Given the description of an element on the screen output the (x, y) to click on. 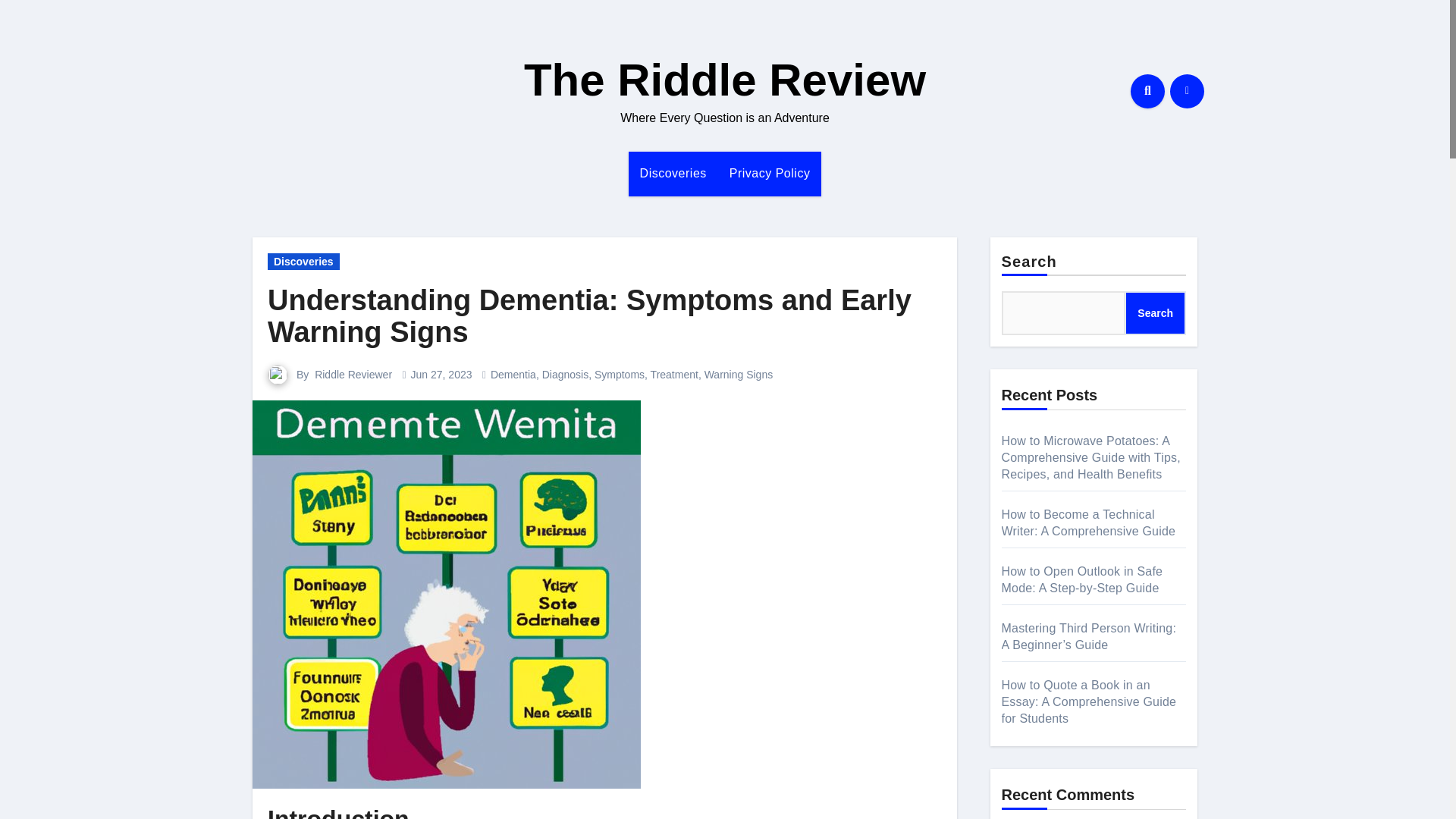
Privacy Policy (769, 173)
Symptoms (619, 374)
The Riddle Review (725, 79)
Warning Signs (738, 374)
Treatment (674, 374)
Discoveries (672, 173)
Riddle Reviewer (352, 374)
Discoveries (672, 173)
Diagnosis (564, 374)
